Given the description of an element on the screen output the (x, y) to click on. 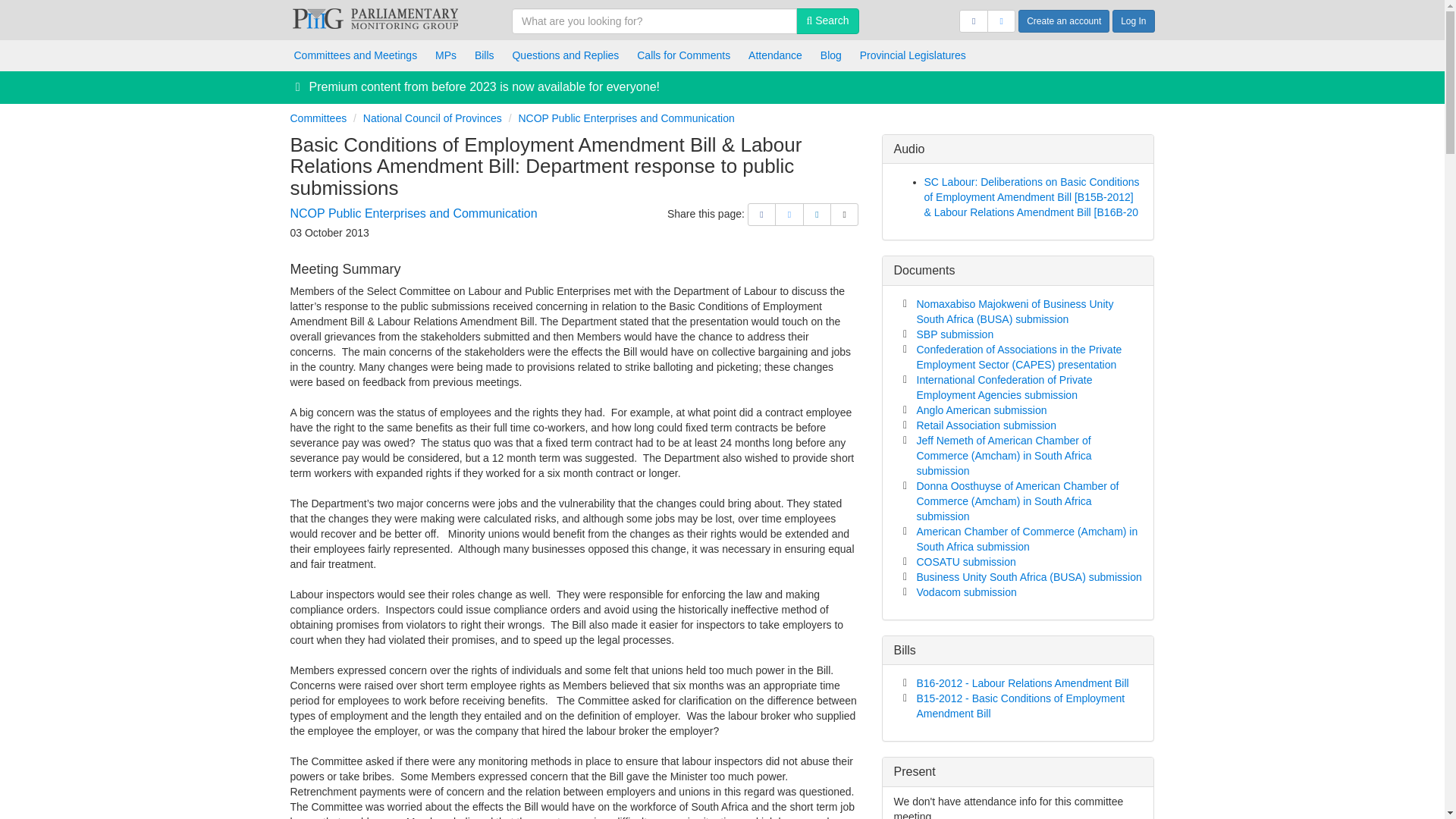
Questions and Replies (564, 55)
Committees (317, 118)
Search (827, 21)
NCOP Public Enterprises and Communication (625, 118)
Bills (484, 55)
Log In (1133, 20)
MPs (446, 55)
Committees and Meetings (355, 55)
Attendance (775, 55)
Blog (830, 55)
NCOP Public Enterprises and Communication (413, 213)
Provincial Legislatures (912, 55)
National Council of Provinces (432, 118)
Create an account (1063, 20)
